Given the description of an element on the screen output the (x, y) to click on. 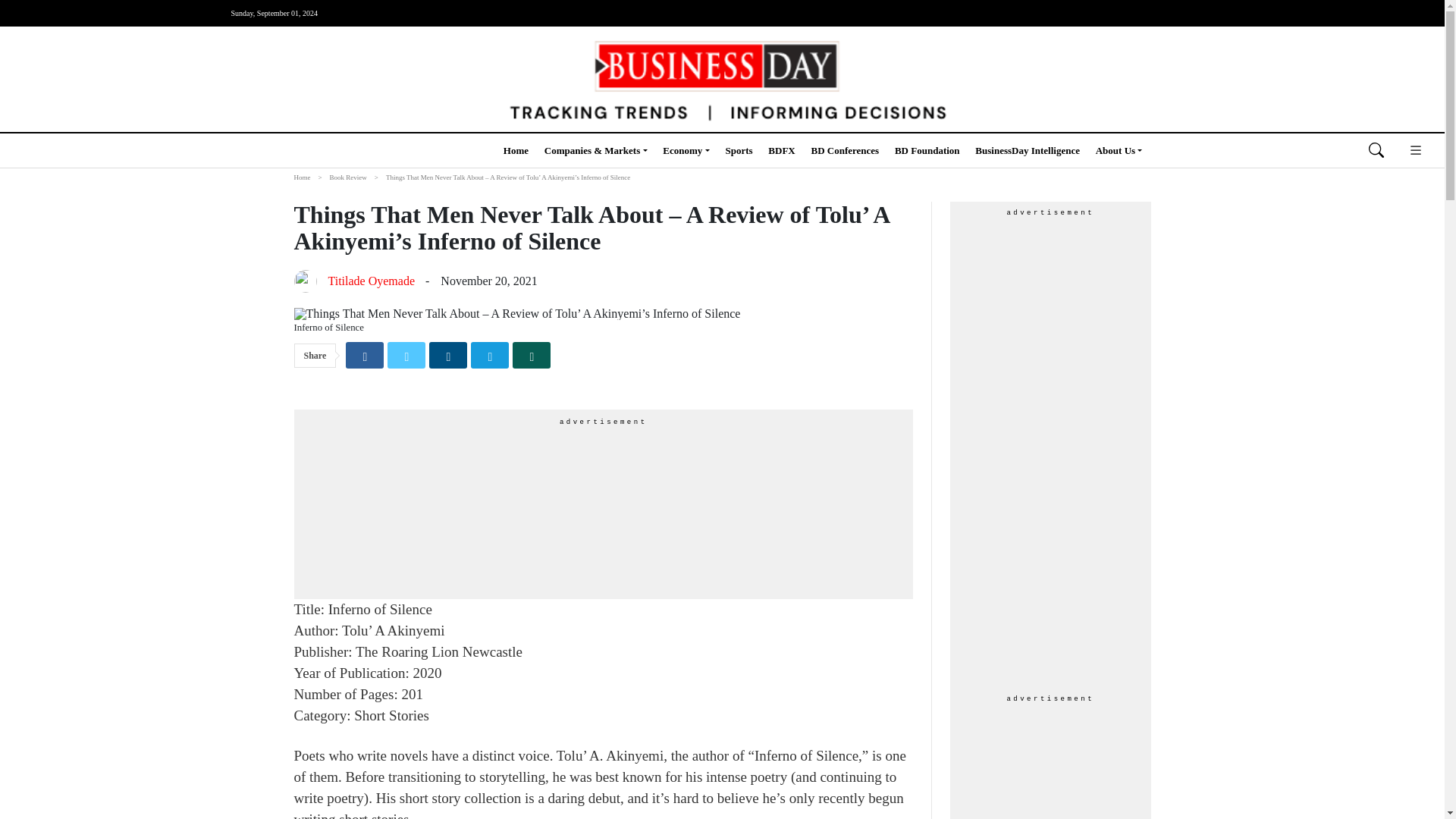
BD Foundation (927, 149)
BD Conferences (844, 149)
Economy (685, 149)
About Us (1119, 149)
BD Conferences (844, 149)
About Us (1119, 149)
BD Foundation (927, 149)
Economy (685, 149)
BusinessDay Intelligence (1027, 149)
BusinessDay Intelligence (1027, 149)
